Given the description of an element on the screen output the (x, y) to click on. 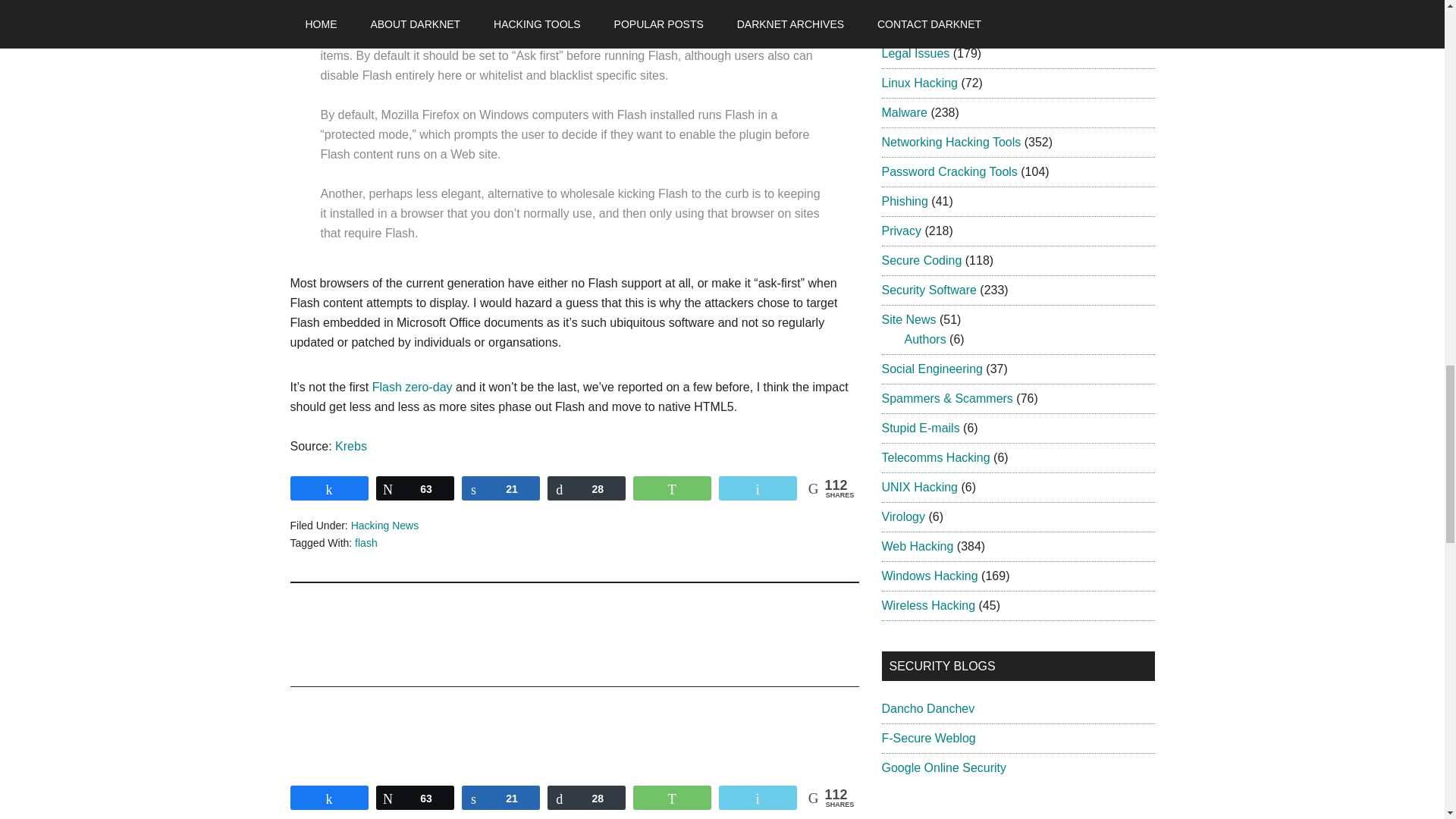
28 (586, 487)
Hacking News (384, 525)
flash (366, 542)
Flash zero-day (412, 386)
Mind Streams of Information Security Knowledge (927, 707)
63 (414, 487)
Award-winning computer security news (921, 797)
News from the lab. (927, 738)
21 (500, 487)
Krebs (350, 445)
